Given the description of an element on the screen output the (x, y) to click on. 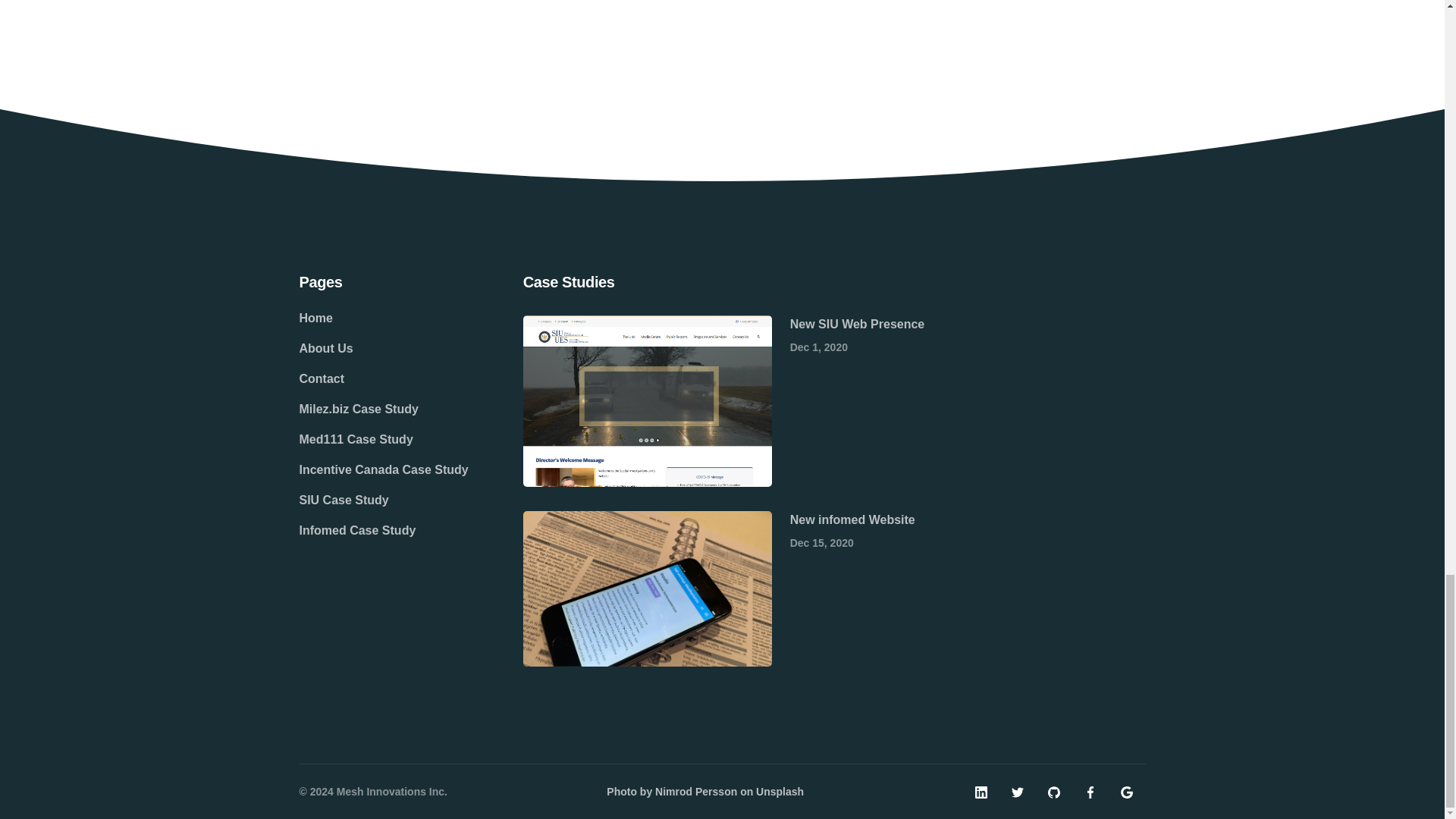
New SIU Web Presence (857, 323)
Photo by Nimrod Persson on Unsplash (705, 791)
Home (382, 318)
Infomed Case Study (382, 530)
Med111 Case Study (382, 440)
Incentive Canada Case Study (382, 470)
New infomed Website (852, 519)
About Us (382, 348)
Contact (382, 378)
SIU Case Study (382, 500)
Milez.biz Case Study (382, 409)
